Given the description of an element on the screen output the (x, y) to click on. 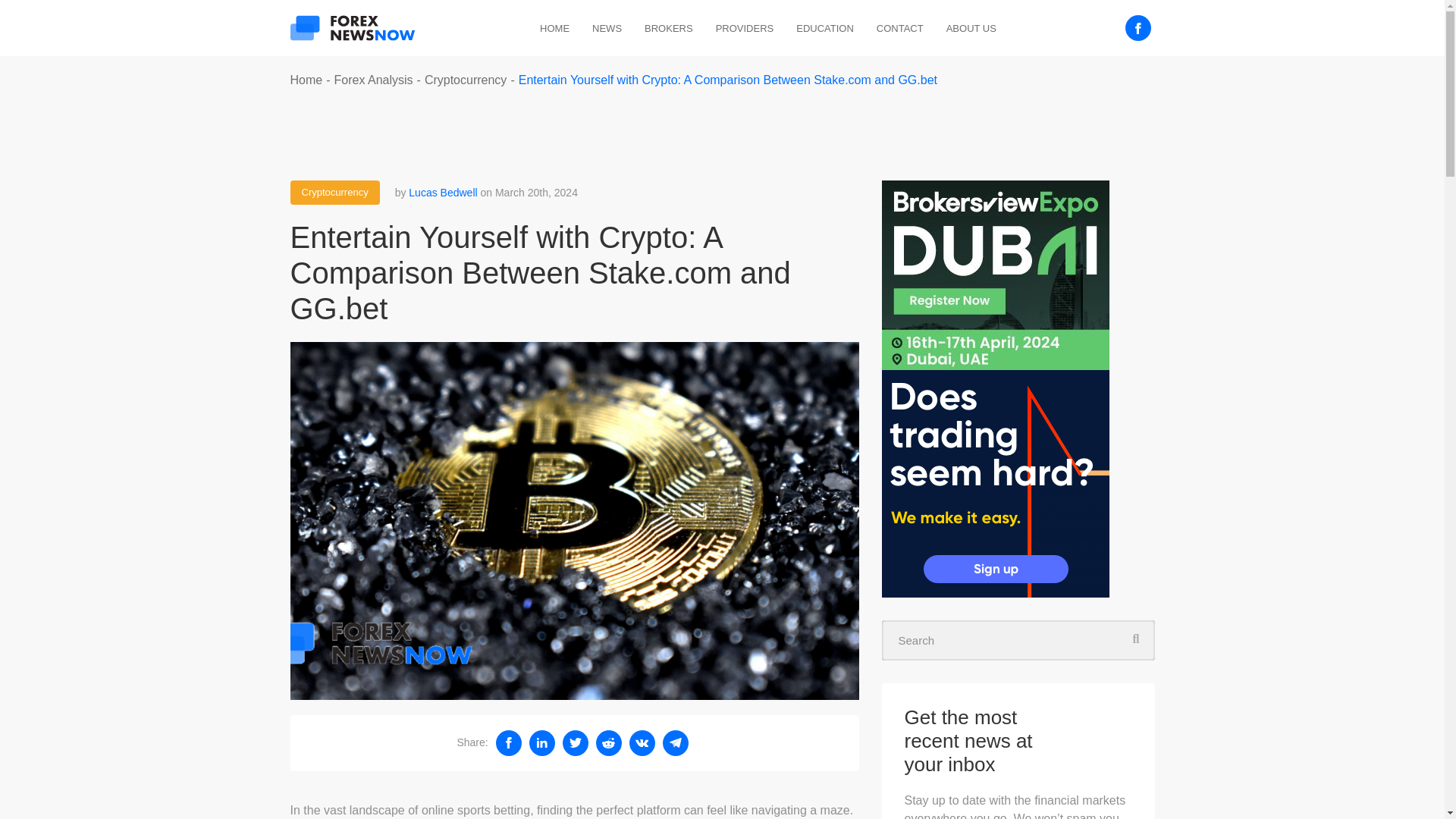
PROVIDERS (745, 28)
EDUCATION (824, 28)
View all posts in Cryptocurrency (334, 192)
Search (1017, 639)
NEWS (606, 28)
CONTACT (899, 28)
BROKERS (669, 28)
HOME (554, 28)
ABOUT US (970, 28)
